Given the description of an element on the screen output the (x, y) to click on. 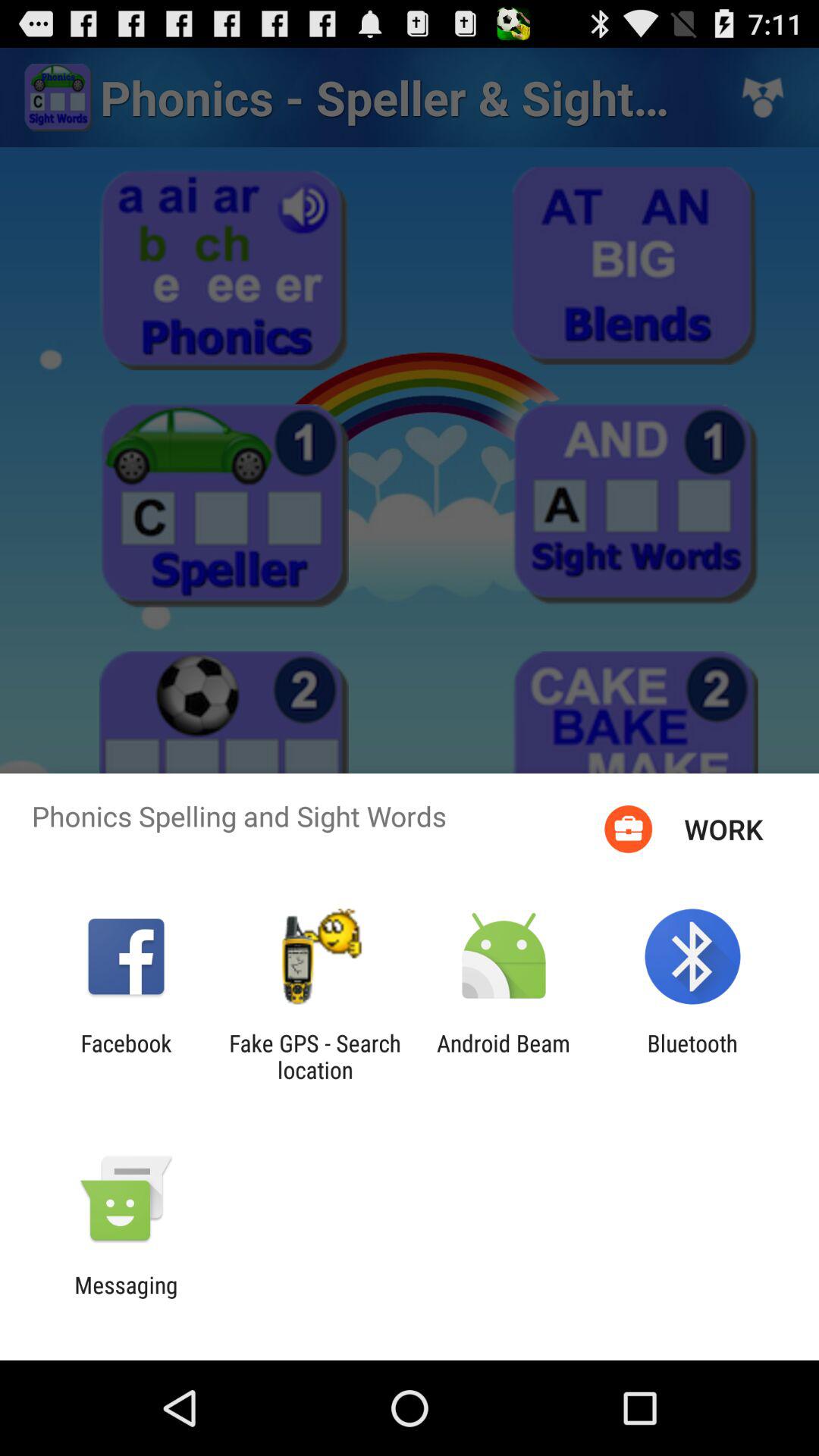
launch android beam (503, 1056)
